Given the description of an element on the screen output the (x, y) to click on. 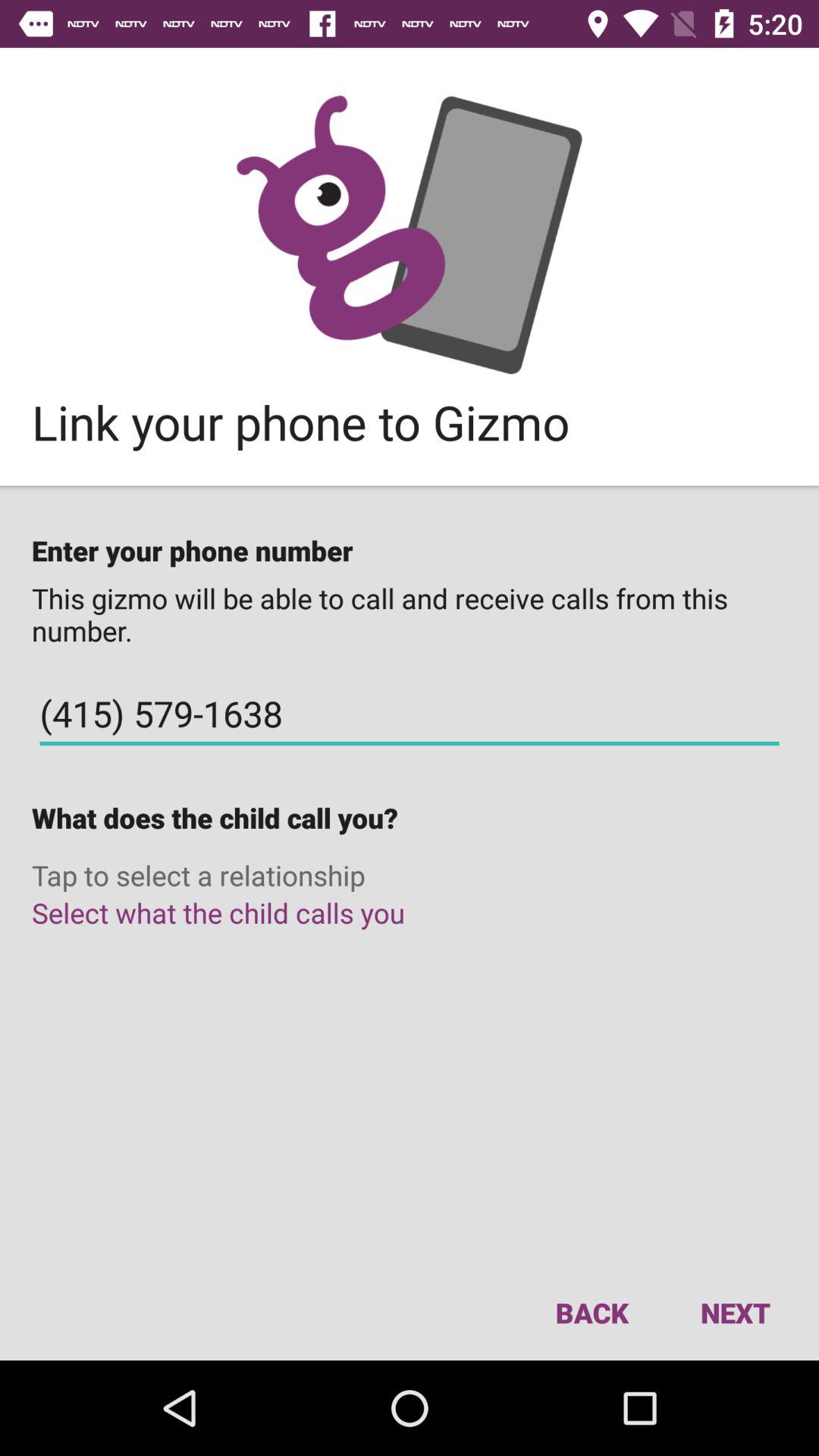
swipe to the back (591, 1312)
